Given the description of an element on the screen output the (x, y) to click on. 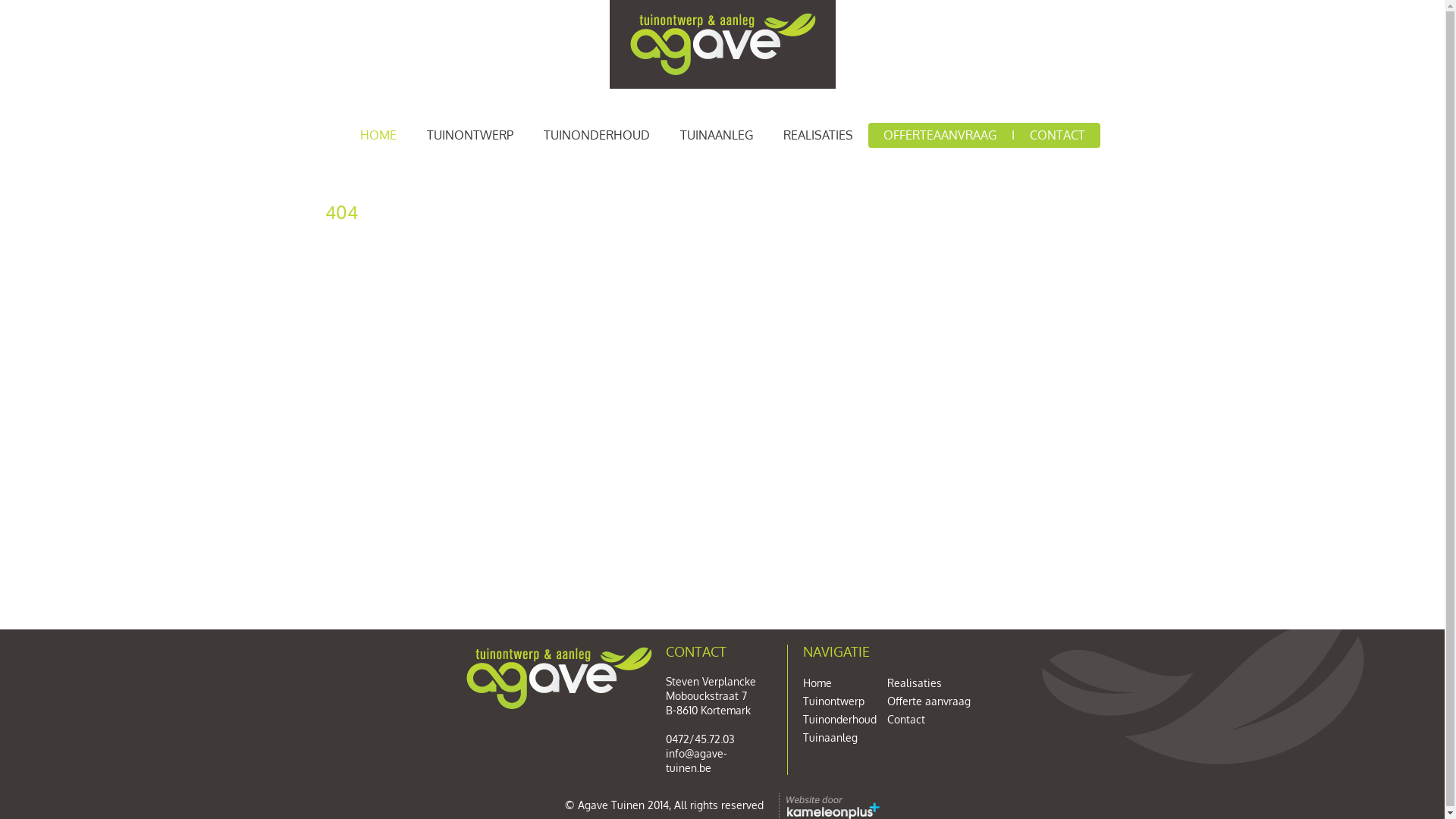
Tuinontwerp Element type: text (832, 700)
Offerte aanvraag Element type: text (928, 700)
Tuinaanleg Element type: text (829, 737)
Home Element type: text (816, 682)
HOME Element type: text (377, 134)
Contact Element type: text (906, 718)
CONTACT Element type: text (1057, 134)
TUINONDERHOUD Element type: text (595, 134)
TUINAANLEG Element type: text (715, 134)
OFFERTEAANVRAAG Element type: text (938, 134)
Realisaties Element type: text (914, 682)
TUINONTWERP Element type: text (469, 134)
REALISATIES Element type: text (817, 134)
Tuinonderhoud Element type: text (838, 718)
